Given the description of an element on the screen output the (x, y) to click on. 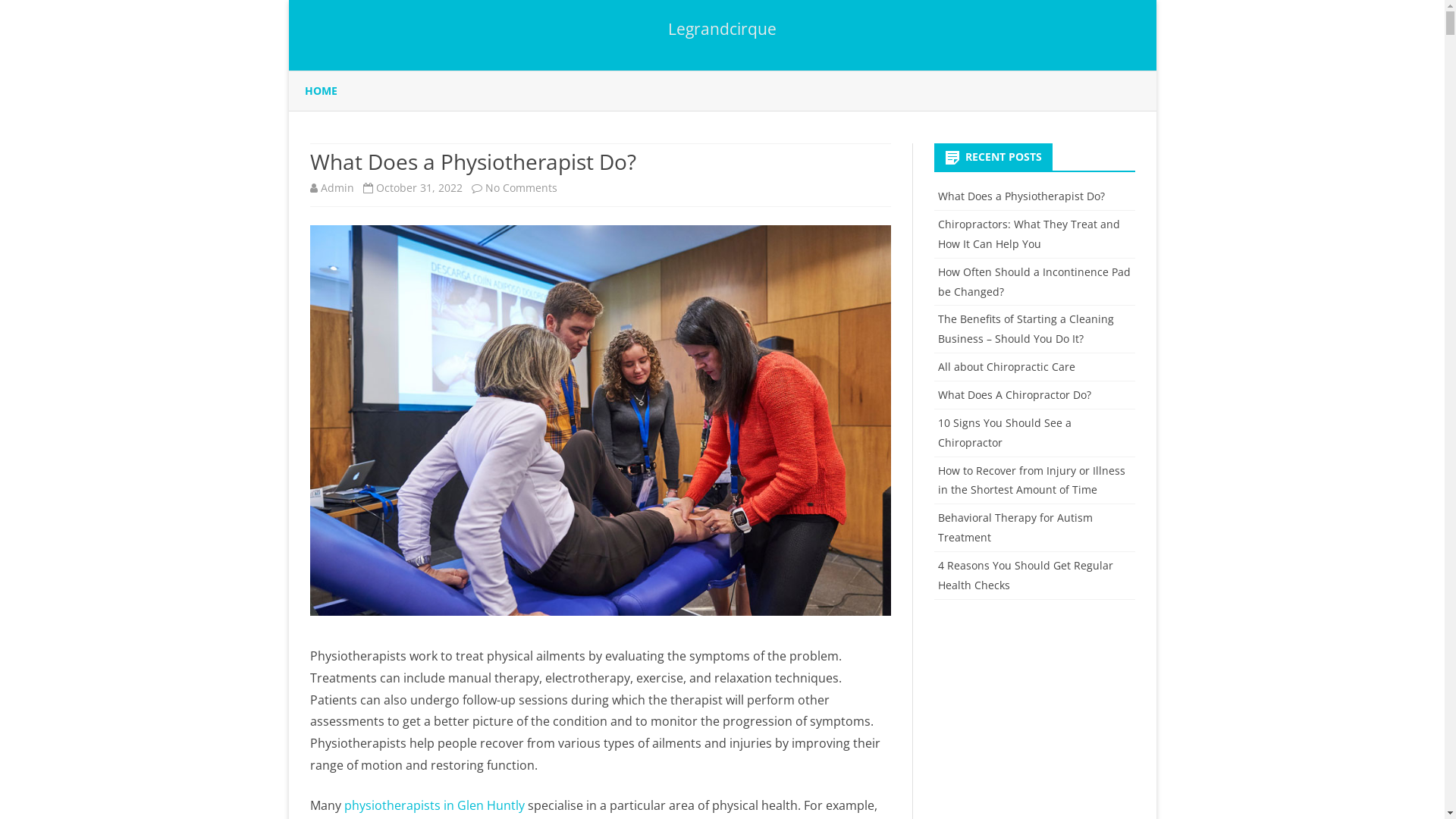
What Does a Physiotherapist Do? Element type: text (472, 161)
How Often Should a Incontinence Pad be Changed? Element type: text (1034, 281)
Skip to content Element type: text (721, 70)
What Does A Chiropractor Do? Element type: text (1014, 394)
Chiropractors: What They Treat and How It Can Help You Element type: text (1029, 233)
No Comments
on What Does a Physiotherapist Do? Element type: text (521, 187)
4 Reasons You Should Get Regular Health Checks Element type: text (1025, 575)
physiotherapists in Glen Huntly Element type: text (434, 805)
10 Signs You Should See a Chiropractor Element type: text (1004, 432)
What Does a Physiotherapist Do? Element type: text (1021, 195)
All about Chiropractic Care Element type: text (1006, 366)
Admin Element type: text (336, 187)
Behavioral Therapy for Autism Treatment Element type: text (1015, 527)
HOME Element type: text (320, 90)
Legrandcirque Element type: text (722, 29)
